Given the description of an element on the screen output the (x, y) to click on. 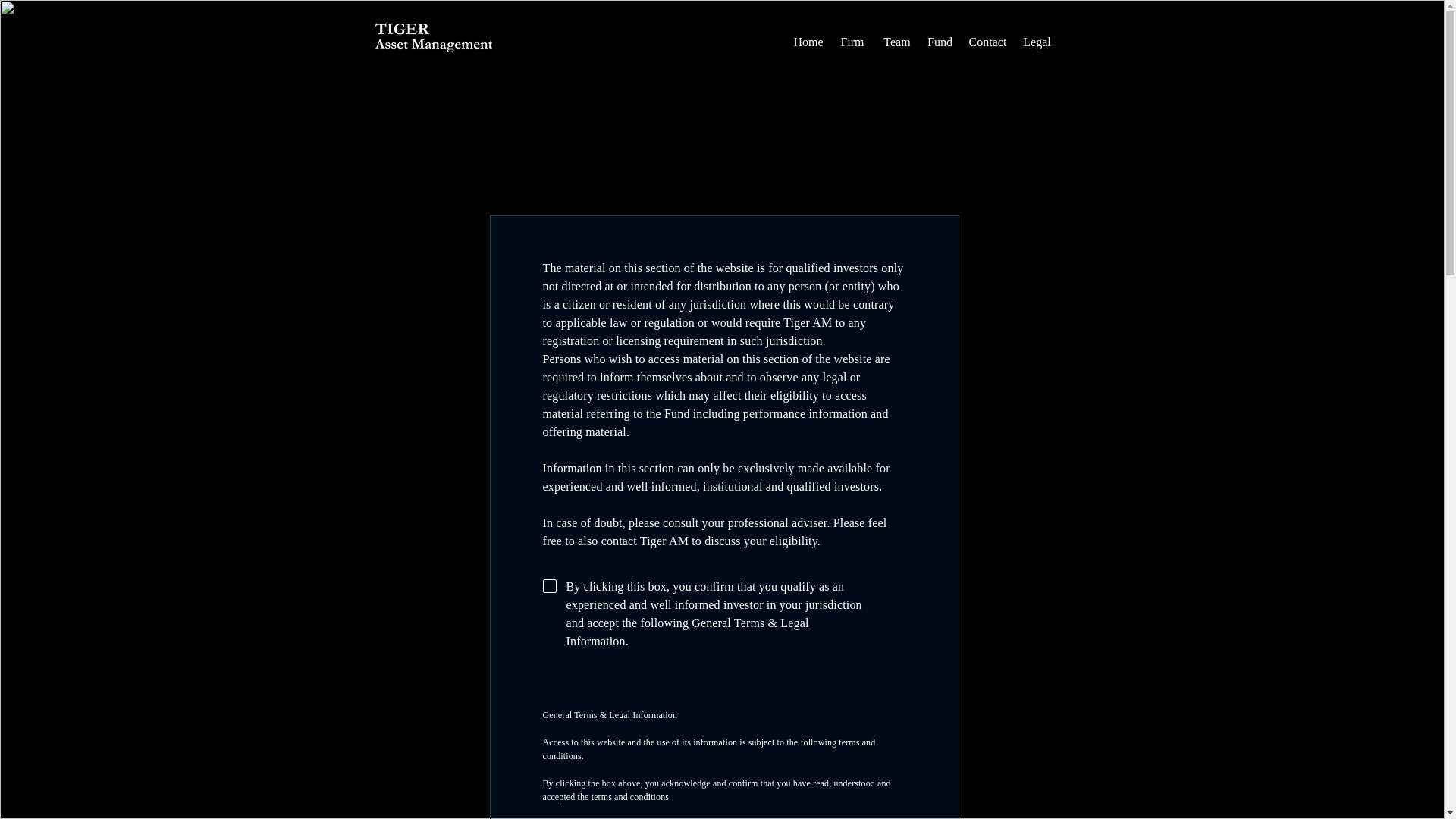
Team (897, 42)
Home (807, 42)
Legal (1036, 42)
Fund (939, 42)
Contact (986, 42)
Firm (851, 42)
